Given the description of an element on the screen output the (x, y) to click on. 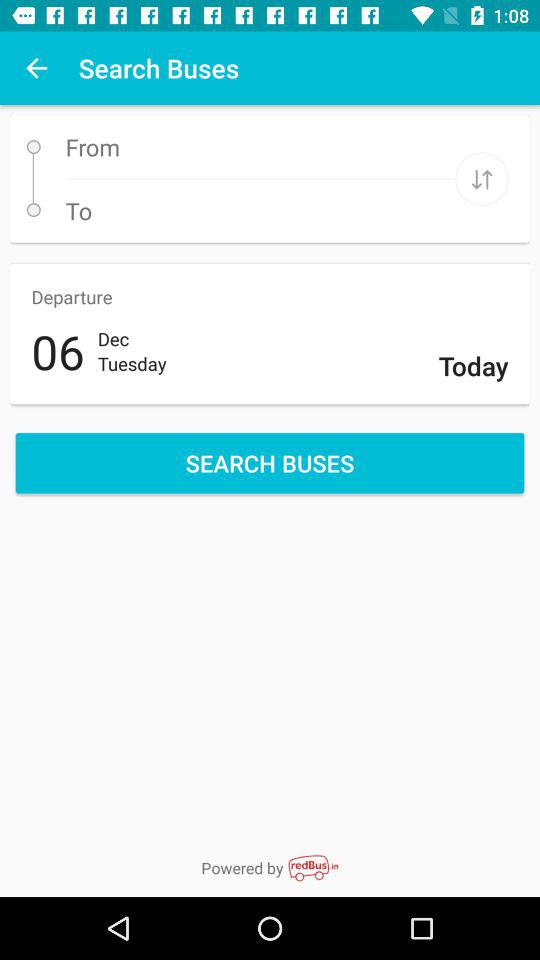
reverse to and from (481, 178)
